Given the description of an element on the screen output the (x, y) to click on. 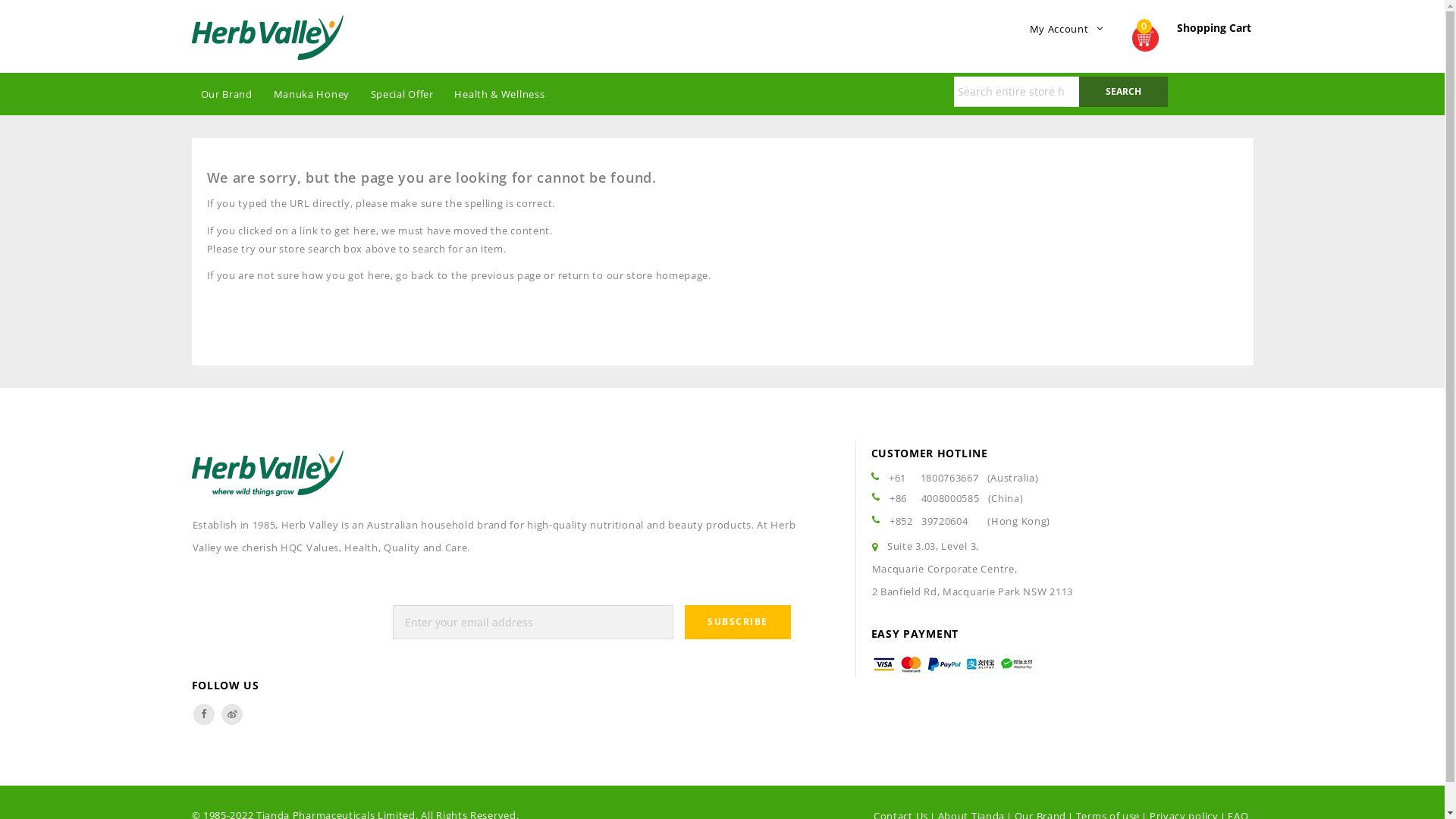
  Element type: text (202, 713)
Macquarie Park NSW 2113 Element type: text (1007, 591)
Suite 3.03, Level 3, Element type: text (933, 545)
2 Banfield Rd, Element type: text (907, 591)
+852   39720604 Element type: text (928, 520)
go back Element type: text (414, 275)
SUBSCRIBE Element type: text (737, 622)
Our Brand Element type: text (225, 93)
store homepage Element type: text (667, 275)
Macquarie Corporate Centre, Element type: text (944, 568)
Manuka Honey Element type: text (311, 93)
Health & Wellness Element type: text (499, 93)
Special Offer Element type: text (401, 93)
0
Shopping Cart Element type: text (1192, 37)
SEARCH Element type: text (1123, 91)
+86     4008000585 Element type: text (934, 498)
+61     1800763667 Element type: text (933, 477)
Tianda Element type: hover (266, 38)
  Element type: text (231, 713)
